Given the description of an element on the screen output the (x, y) to click on. 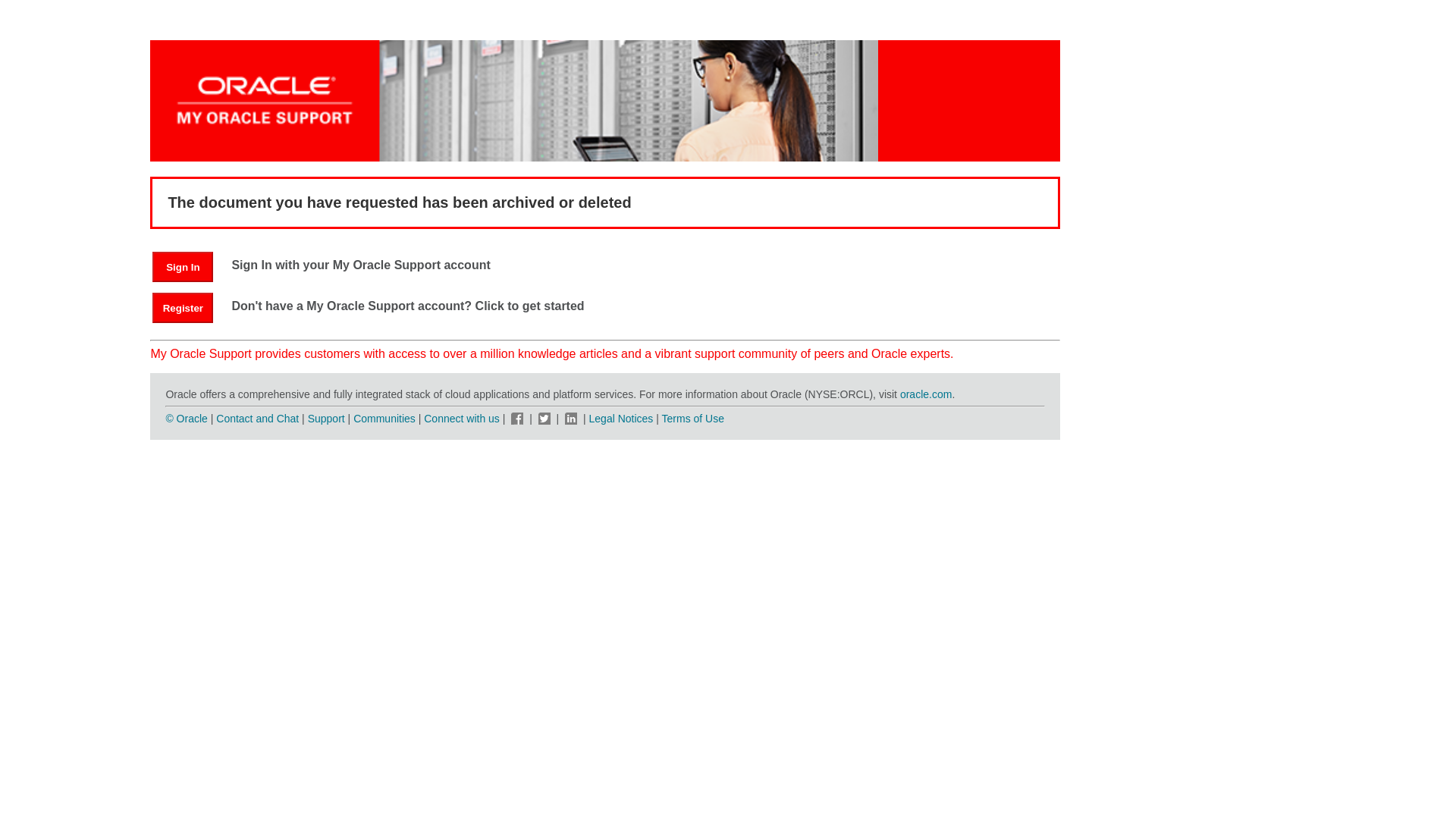
Sign In (190, 266)
Register (182, 307)
Support (326, 418)
oracle.com (925, 394)
Communities (383, 418)
Sign In (182, 266)
oracle.com (925, 394)
Terms of Use (692, 418)
Contact and Chat (256, 418)
Register (190, 307)
